Given the description of an element on the screen output the (x, y) to click on. 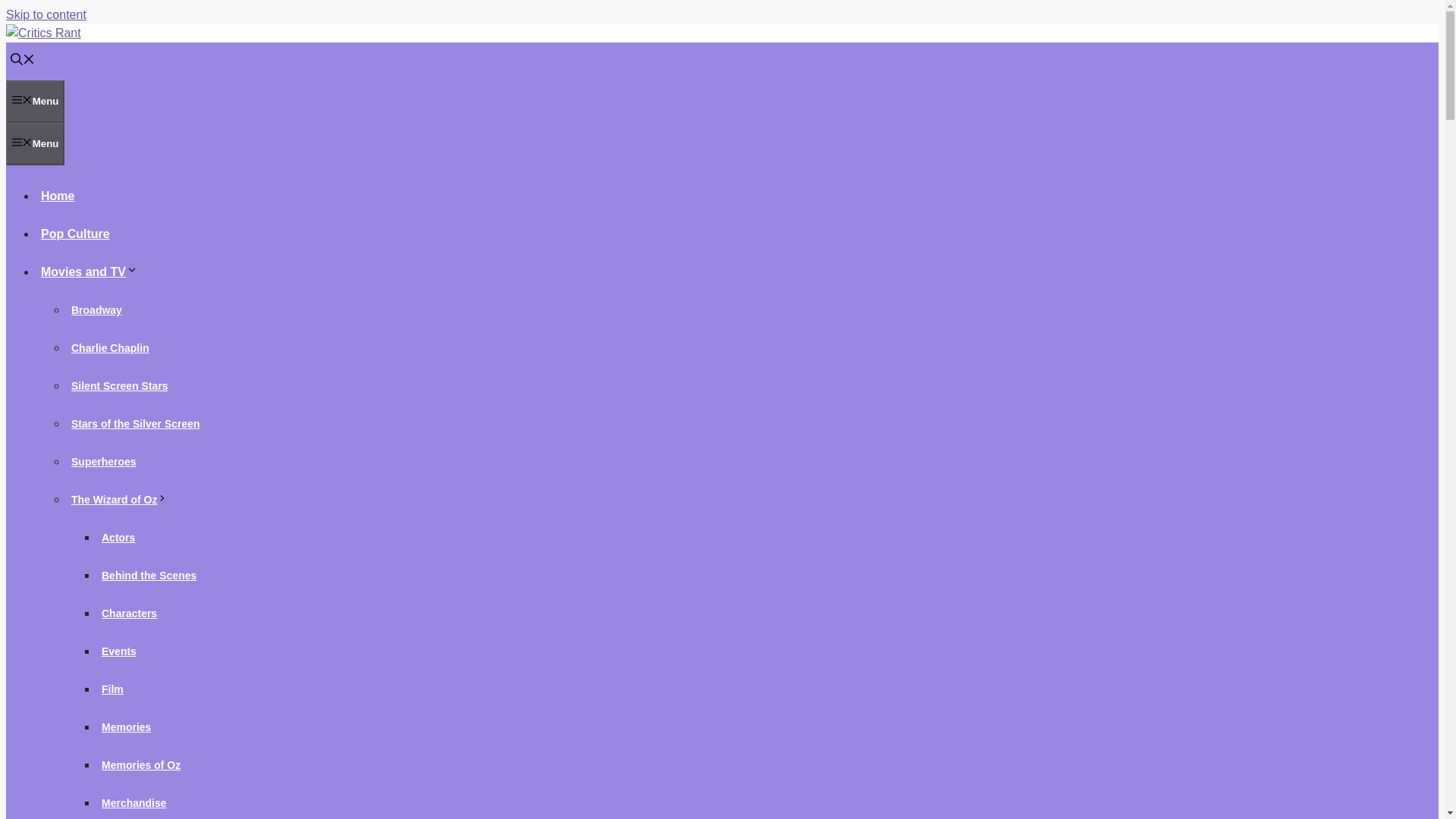
Silent Screen Stars (119, 385)
Superheroes (103, 461)
Film (112, 688)
Broadway (96, 309)
Movies and TV (91, 271)
Memories of Oz (140, 764)
Actors (118, 537)
Stars of the Silver Screen (135, 423)
Pop Culture (75, 233)
Skip to content (45, 14)
